Given the description of an element on the screen output the (x, y) to click on. 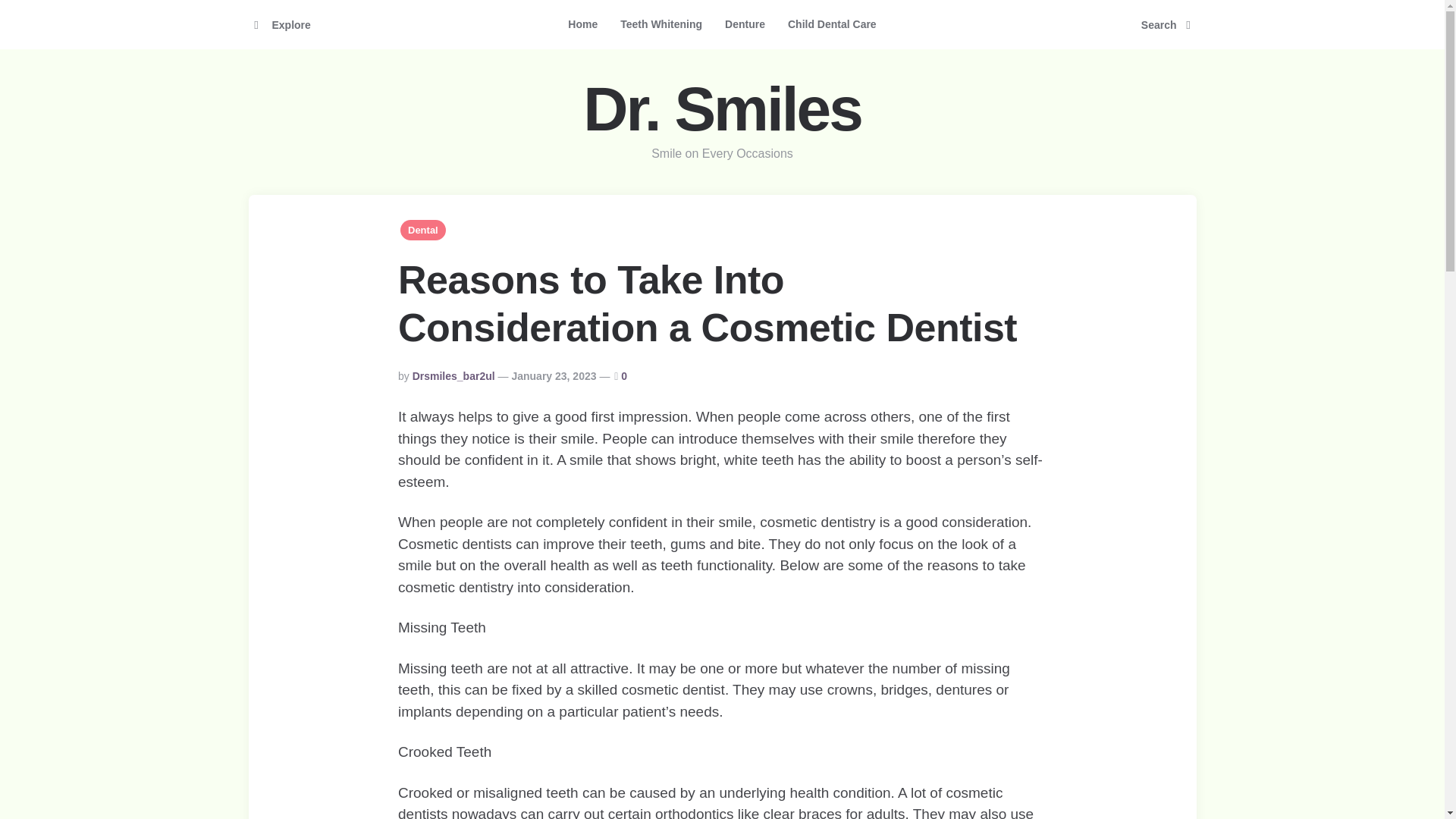
Home (582, 24)
Teeth Whitening (660, 24)
Child Dental Care (832, 24)
0 (624, 376)
Dr. Smiles (722, 109)
Denture (744, 24)
Dental (422, 230)
